Given the description of an element on the screen output the (x, y) to click on. 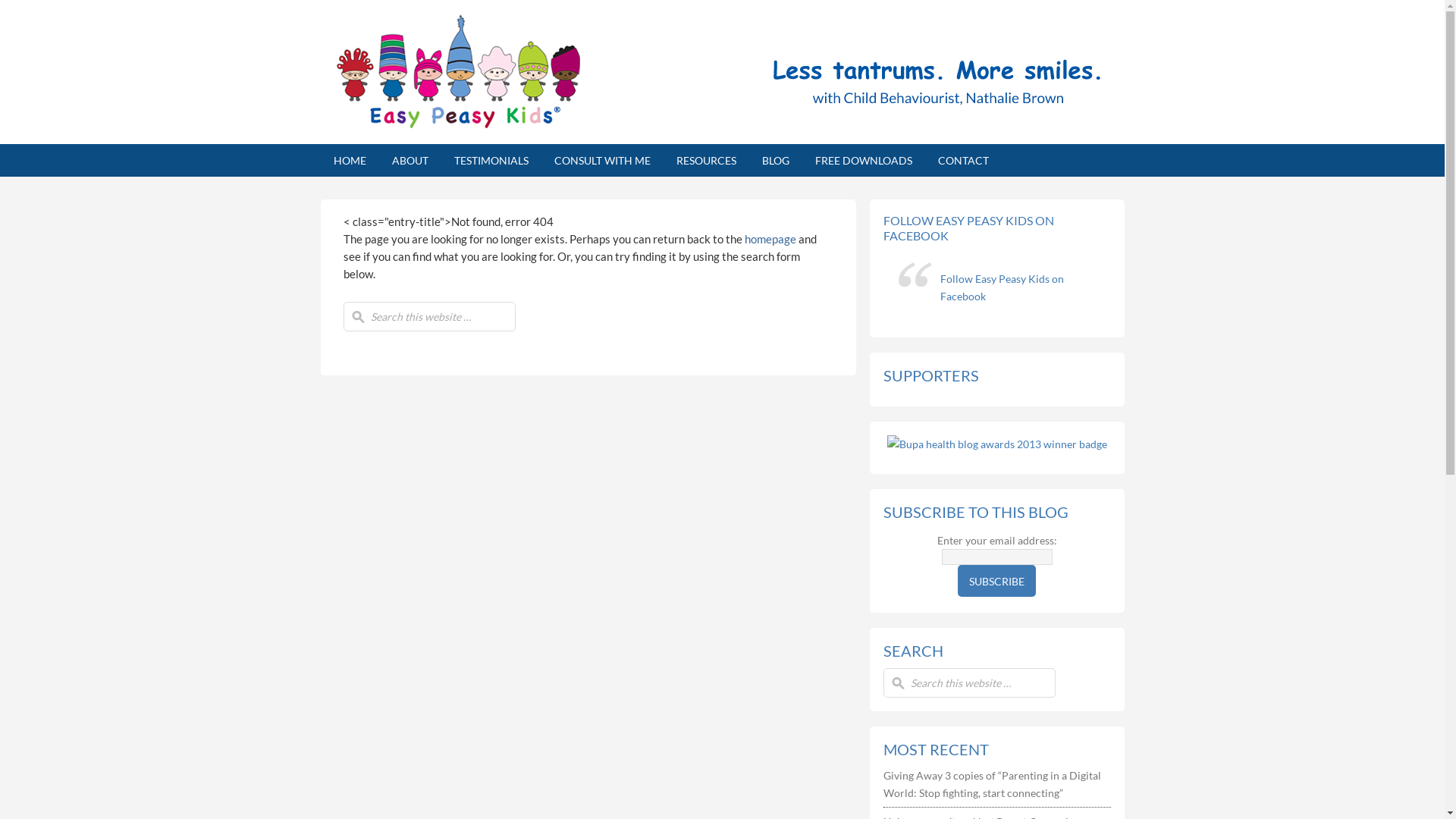
CONTACT Element type: text (963, 160)
FOLLOW EASY PEASY KIDS ON FACEBOOK Element type: text (967, 227)
Follow Easy Peasy Kids on Facebook Element type: text (1001, 287)
Subscribe Element type: text (996, 580)
Search Element type: text (32, 15)
HOME Element type: text (349, 160)
homepage Element type: text (770, 238)
TESTIMONIALS Element type: text (491, 160)
Bupa health blog awards 2013 winner badge Element type: hover (997, 443)
FREE DOWNLOADS Element type: text (863, 160)
EASY PEASY KIDS Element type: text (459, 72)
